Given the description of an element on the screen output the (x, y) to click on. 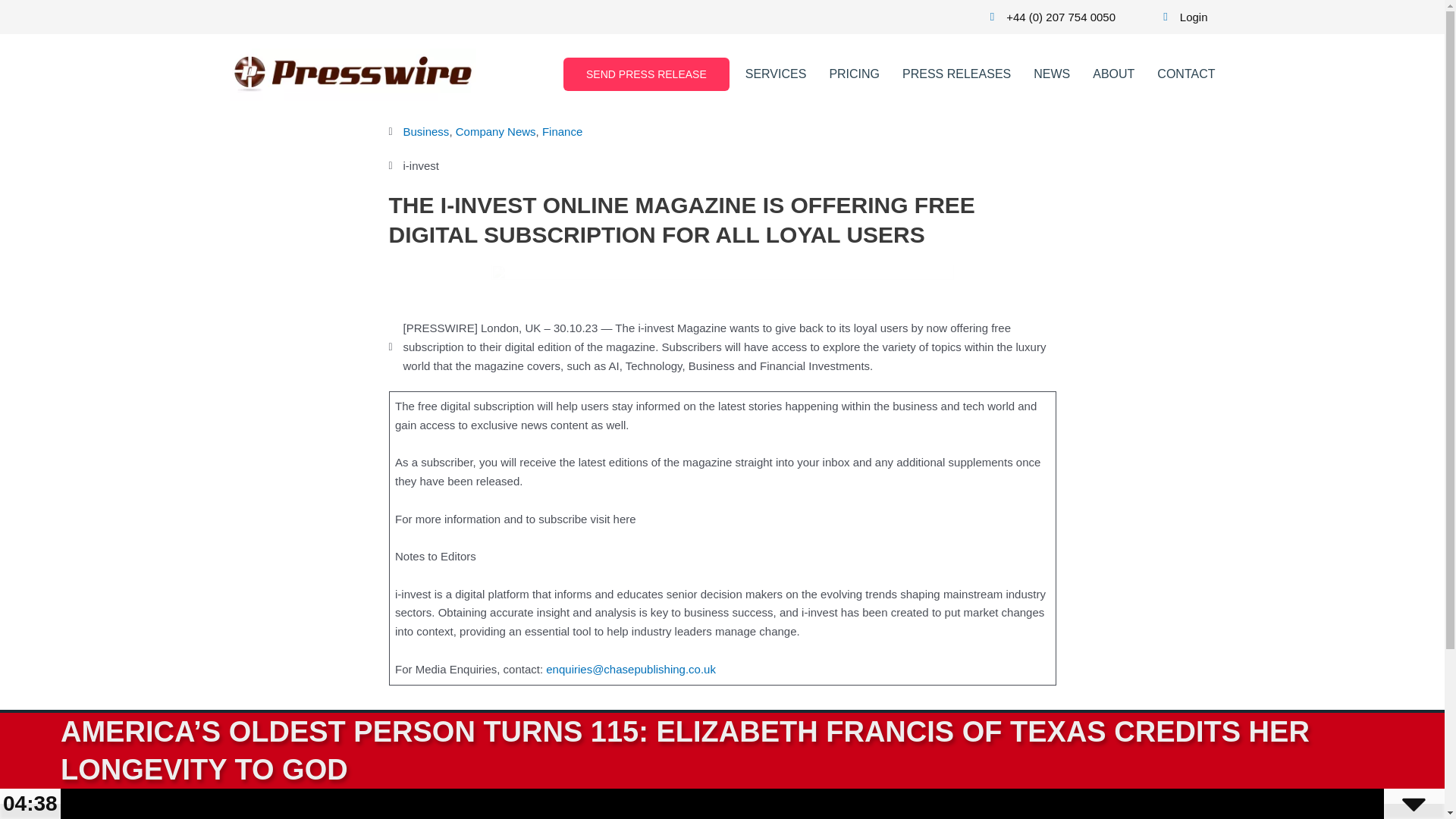
Login (1180, 16)
CONTACT (1185, 73)
ABOUT (855, 751)
SERVICES (775, 73)
NEWS (794, 751)
Company News (495, 131)
SEND PRESS RELEASE (646, 73)
ABOUT (1113, 73)
PRESS RELEASES (956, 73)
Finance (561, 131)
Business (426, 131)
PRESS RELEASES (698, 751)
SERVICES (517, 751)
PRICING (595, 751)
PRICING (853, 73)
